Given the description of an element on the screen output the (x, y) to click on. 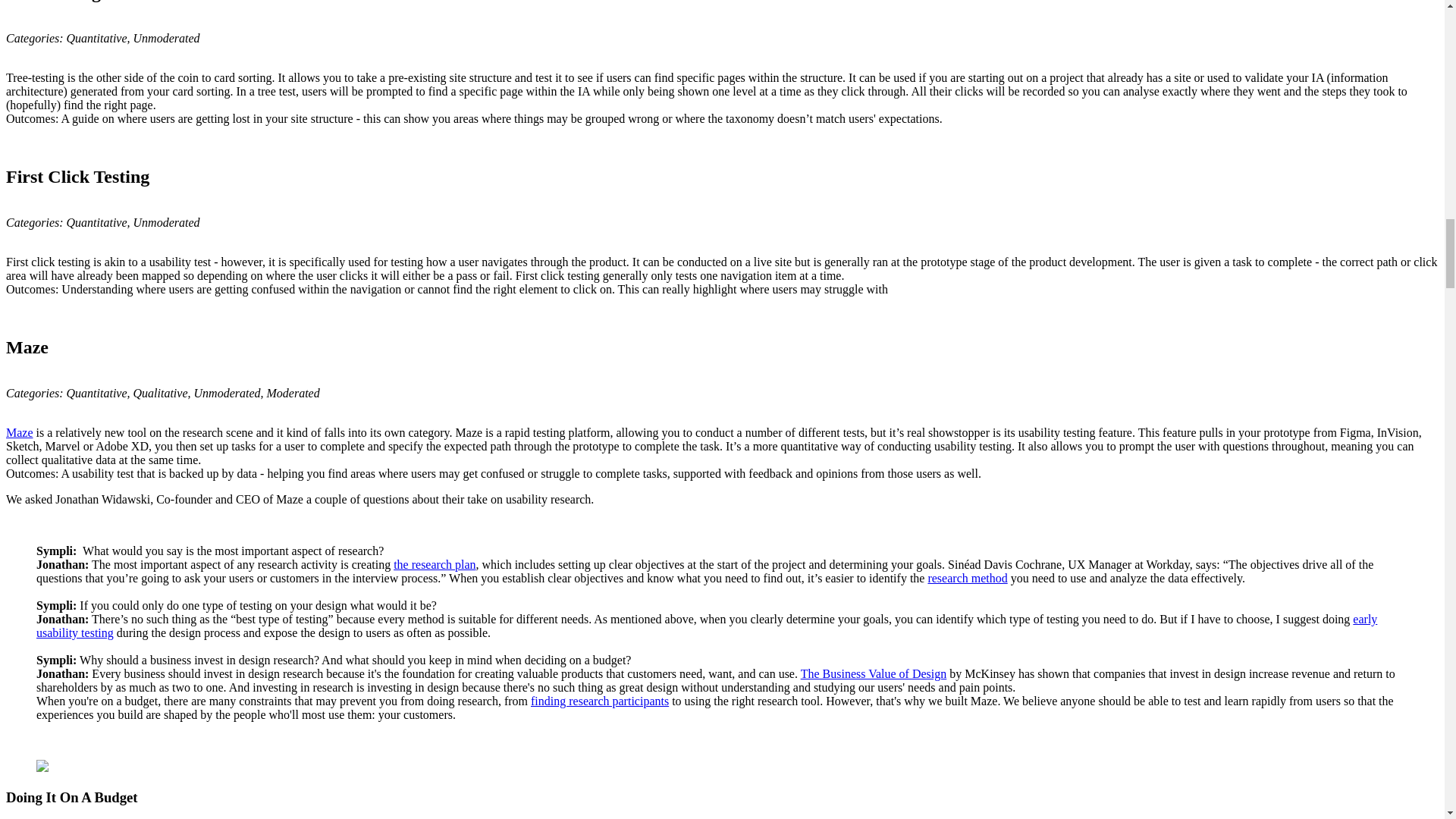
The Business Value of Design (873, 673)
early usability testing (706, 625)
research method (967, 577)
finding research participants (599, 700)
the research plan (434, 563)
Maze (19, 431)
